Given the description of an element on the screen output the (x, y) to click on. 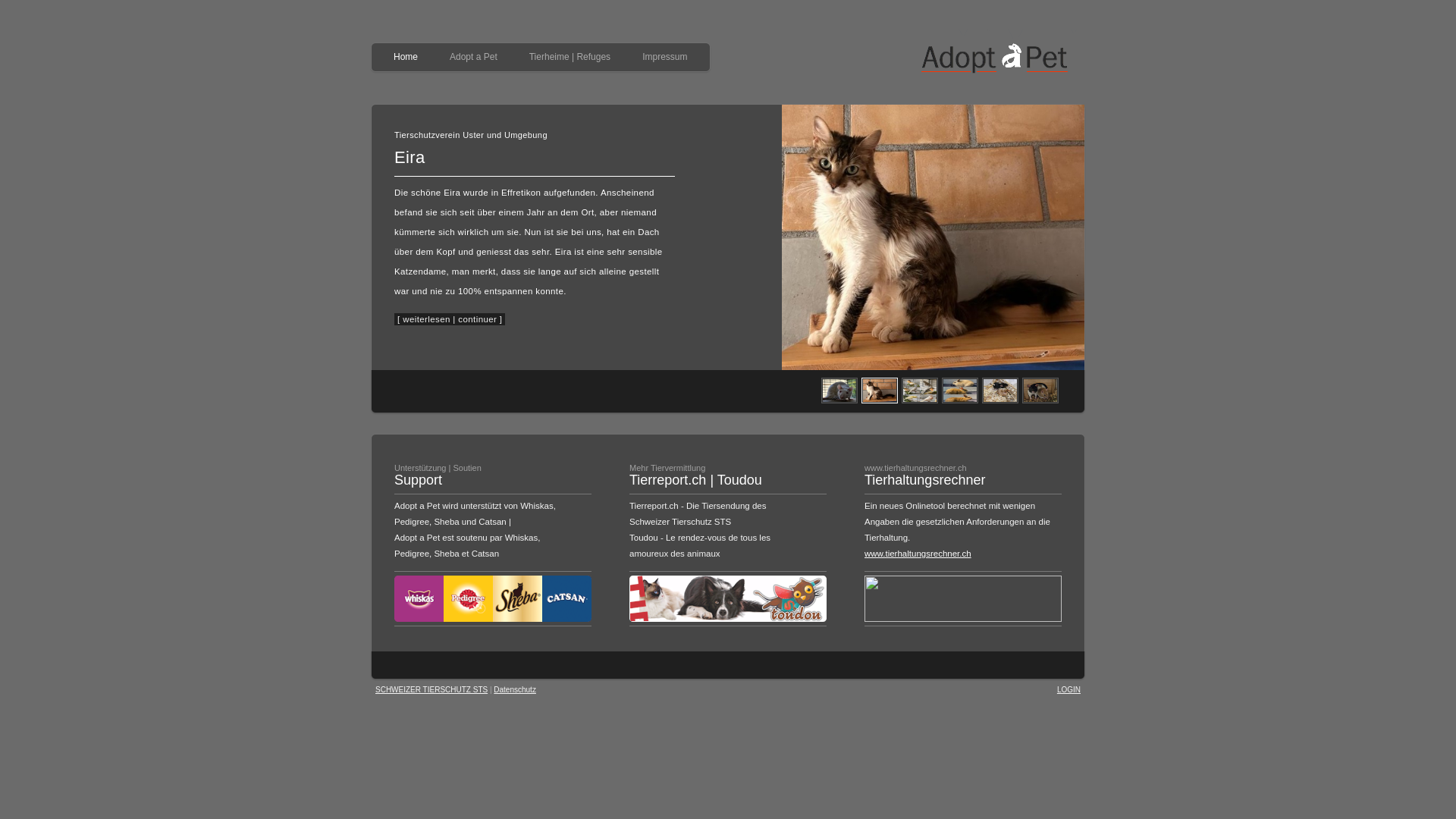
Impressum Element type: text (664, 58)
Tierhaltungsrechner Element type: text (924, 479)
[ weiterlesen | continuer ] Element type: text (449, 319)
SCHWEIZER TIERSCHUTZ STS Element type: text (431, 689)
www.tierhaltungsrechner.ch Element type: text (917, 553)
Toudou Element type: text (739, 479)
Home Element type: text (405, 58)
LOGIN Element type: text (1068, 689)
Tierheime | Refuges Element type: text (569, 58)
Datenschutz Element type: text (514, 689)
Tierreport.ch Element type: text (667, 479)
Adopt a Pet Element type: text (473, 58)
Eira Element type: text (409, 156)
